Given the description of an element on the screen output the (x, y) to click on. 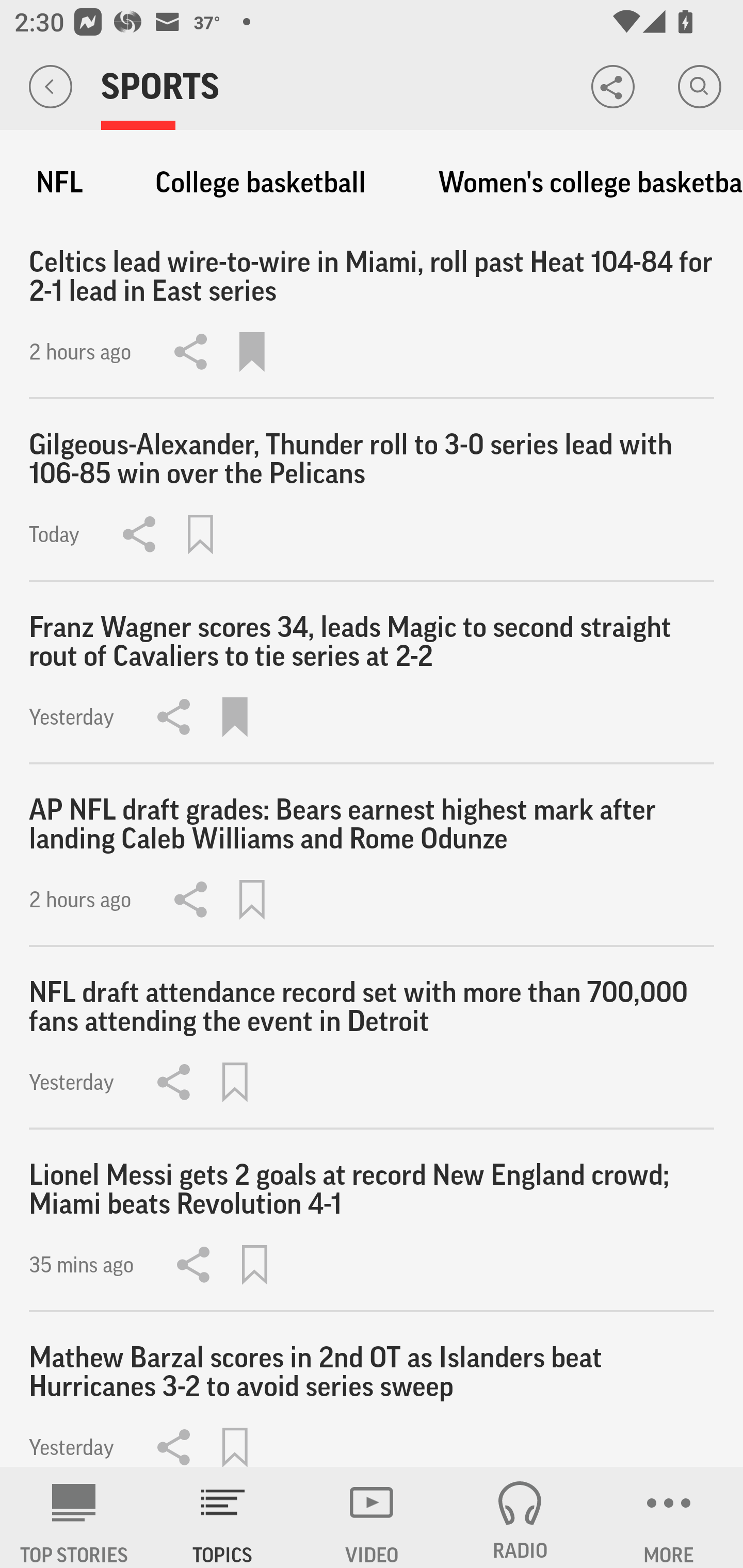
NFL (59, 182)
College basketball (260, 182)
Women's college basketball (581, 182)
AP News TOP STORIES (74, 1517)
TOPICS (222, 1517)
VIDEO (371, 1517)
RADIO (519, 1517)
MORE (668, 1517)
